Given the description of an element on the screen output the (x, y) to click on. 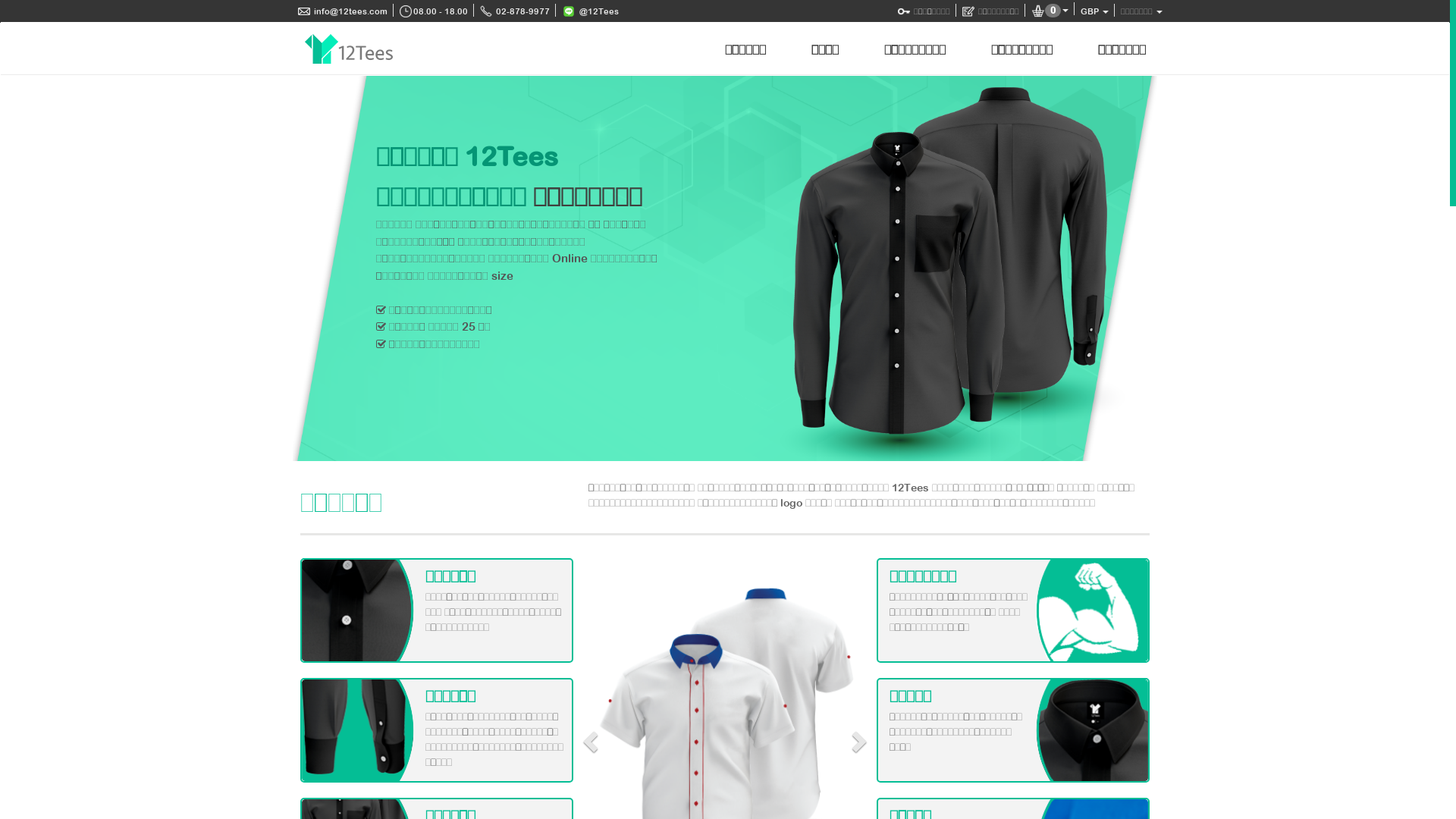
GBP Element type: text (1094, 11)
@12Tees Element type: text (589, 11)
08.00 - 18.00 Element type: text (433, 11)
info@12tees.com Element type: text (342, 11)
Next Element type: text (1137, 268)
02-878-9977 Element type: text (514, 11)
Prev Element type: text (312, 268)
0 Element type: text (1049, 10)
